Given the description of an element on the screen output the (x, y) to click on. 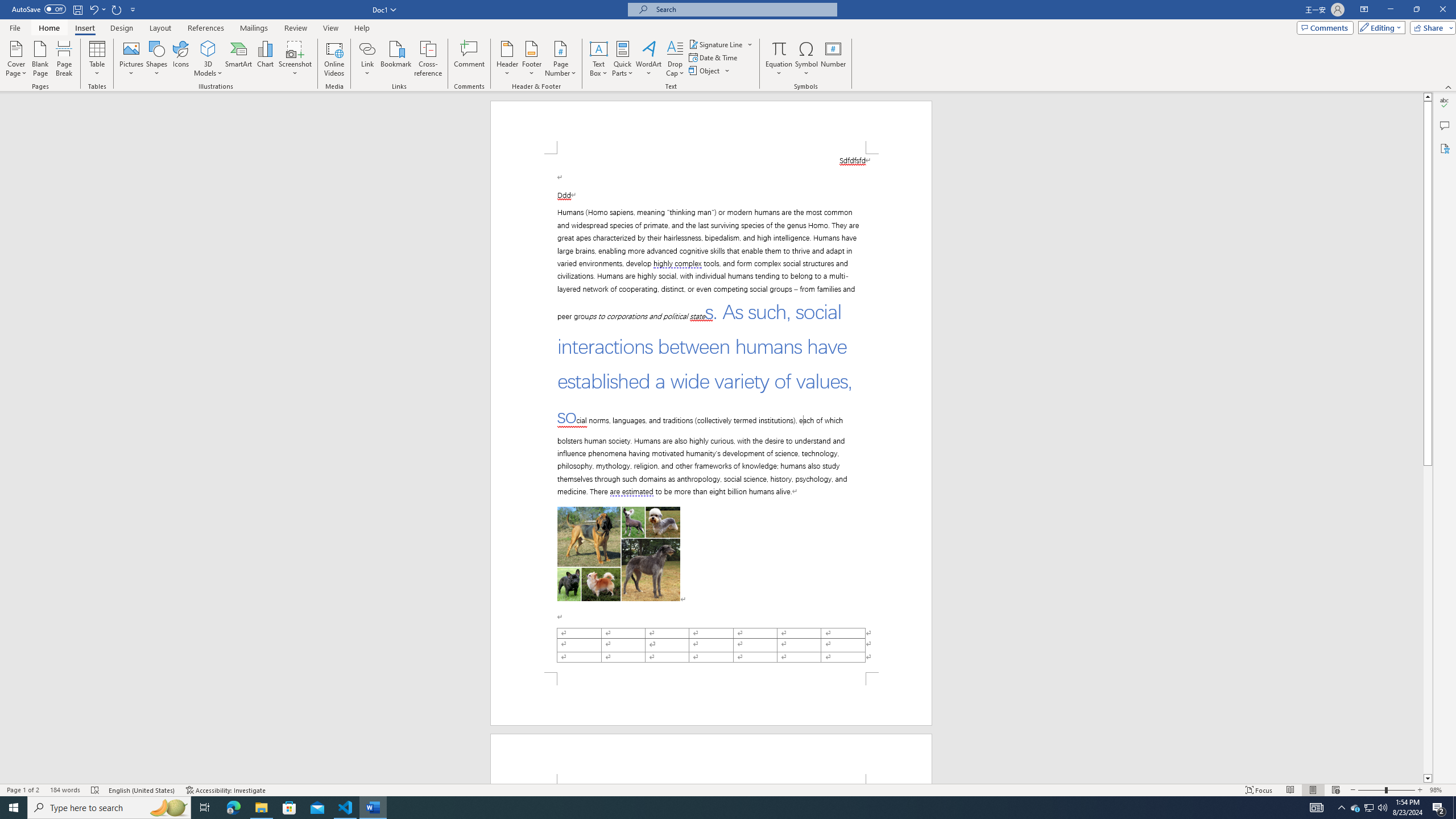
Icons (180, 58)
Table (97, 58)
Page Number Page 1 of 2 (22, 790)
Header -Section 1- (710, 758)
Footer -Section 1- (710, 698)
Online Videos... (333, 58)
Editing (1379, 27)
Signature Line (721, 44)
